Given the description of an element on the screen output the (x, y) to click on. 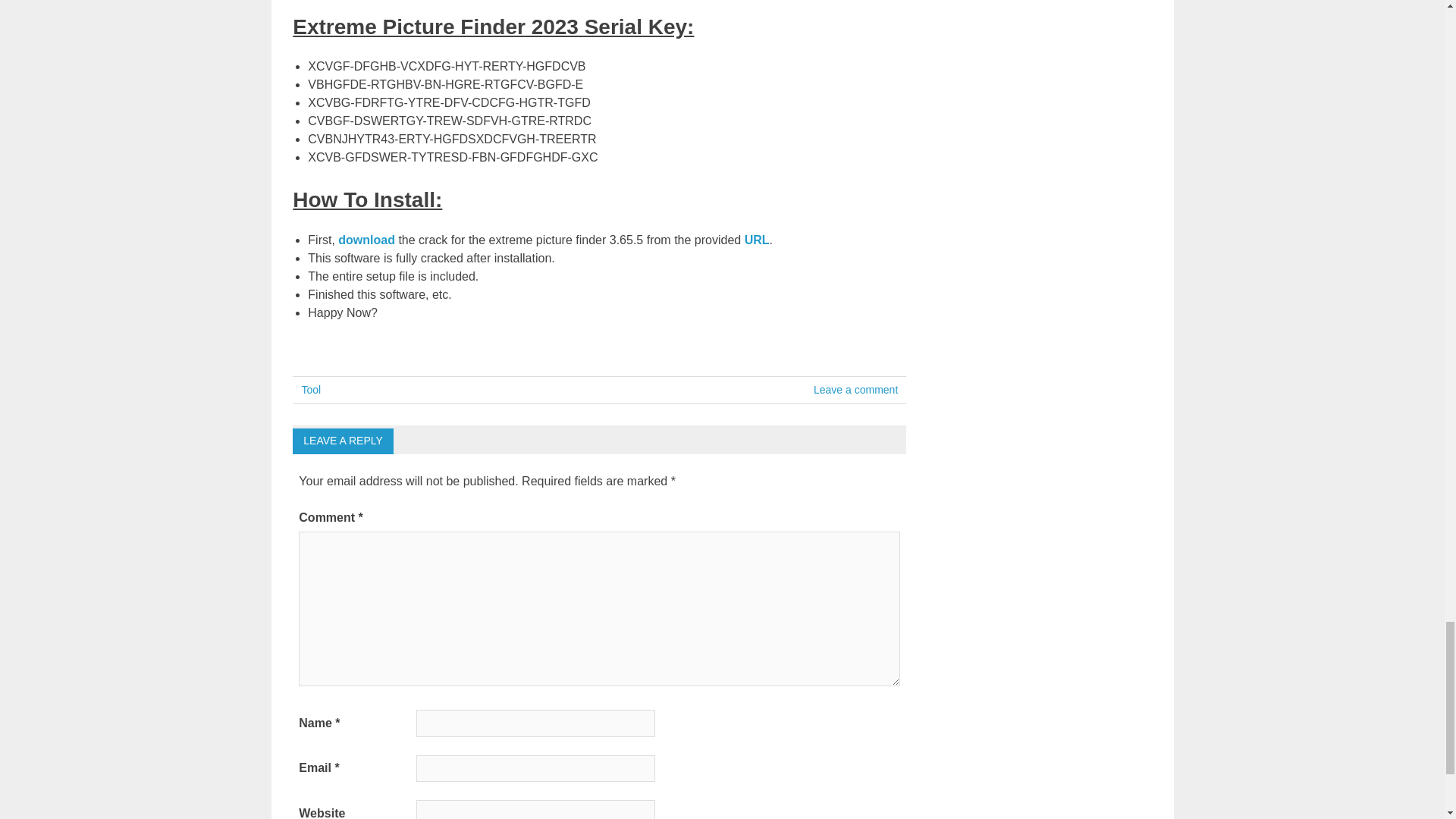
download (365, 239)
Leave a comment (855, 389)
Tool (310, 389)
URL (757, 239)
